Given the description of an element on the screen output the (x, y) to click on. 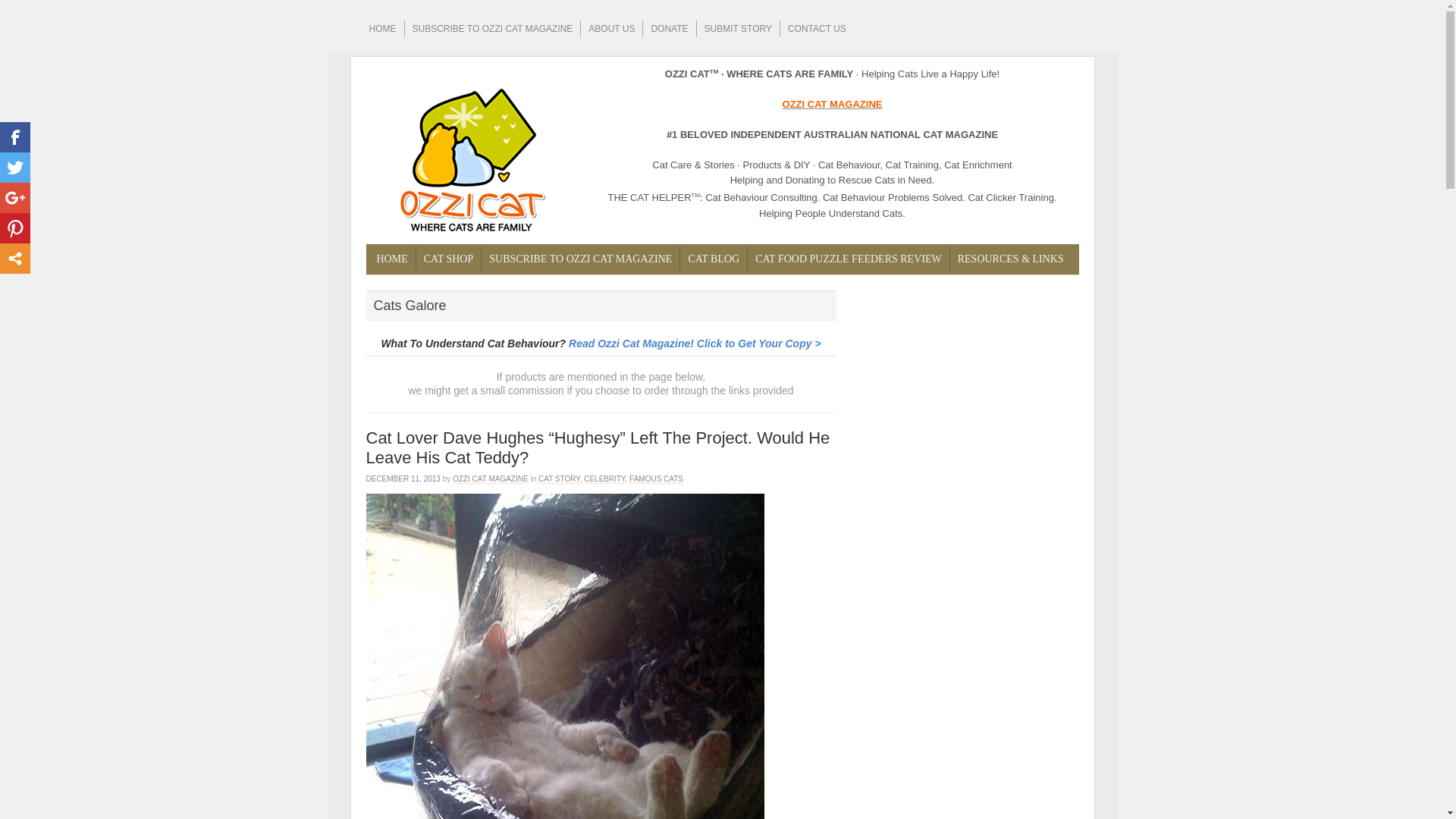
SUBSCRIBE TO OZZI CAT MAGAZINE (579, 259)
SUBMIT STORY (736, 28)
SUBSCRIBE TO OZZI CAT MAGAZINE (491, 28)
Donate for rescue cats in need here (668, 28)
HOME (391, 259)
CAT SHOP (447, 259)
ABOUT US (610, 28)
HOME (382, 28)
About Ozzi Cat (610, 28)
CAT BLOG (712, 259)
OZZI CAT MAGAZINE (832, 103)
Contact Ozzi Cat (815, 28)
CONTACT US (815, 28)
